Given the description of an element on the screen output the (x, y) to click on. 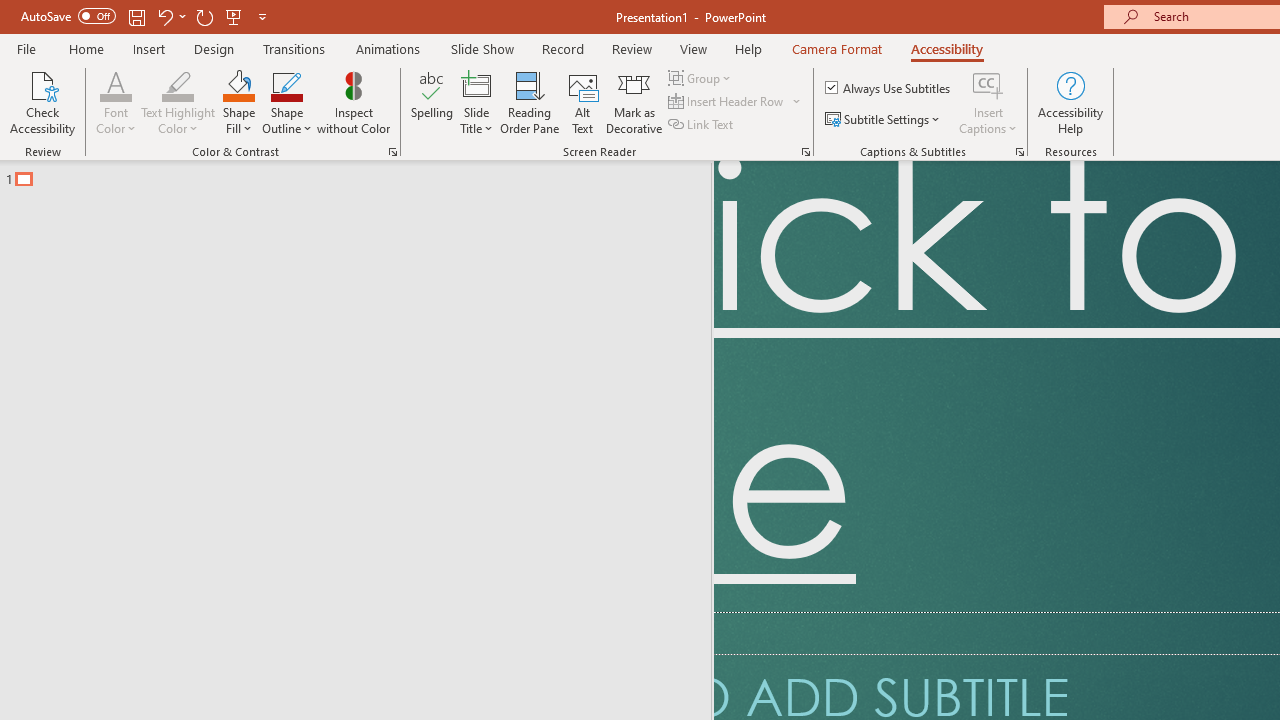
Always Use Subtitles (889, 87)
Accessibility Help (1070, 102)
Reading Order Pane (529, 102)
Captions & Subtitles (1019, 151)
Subtitle Settings (884, 119)
